Given the description of an element on the screen output the (x, y) to click on. 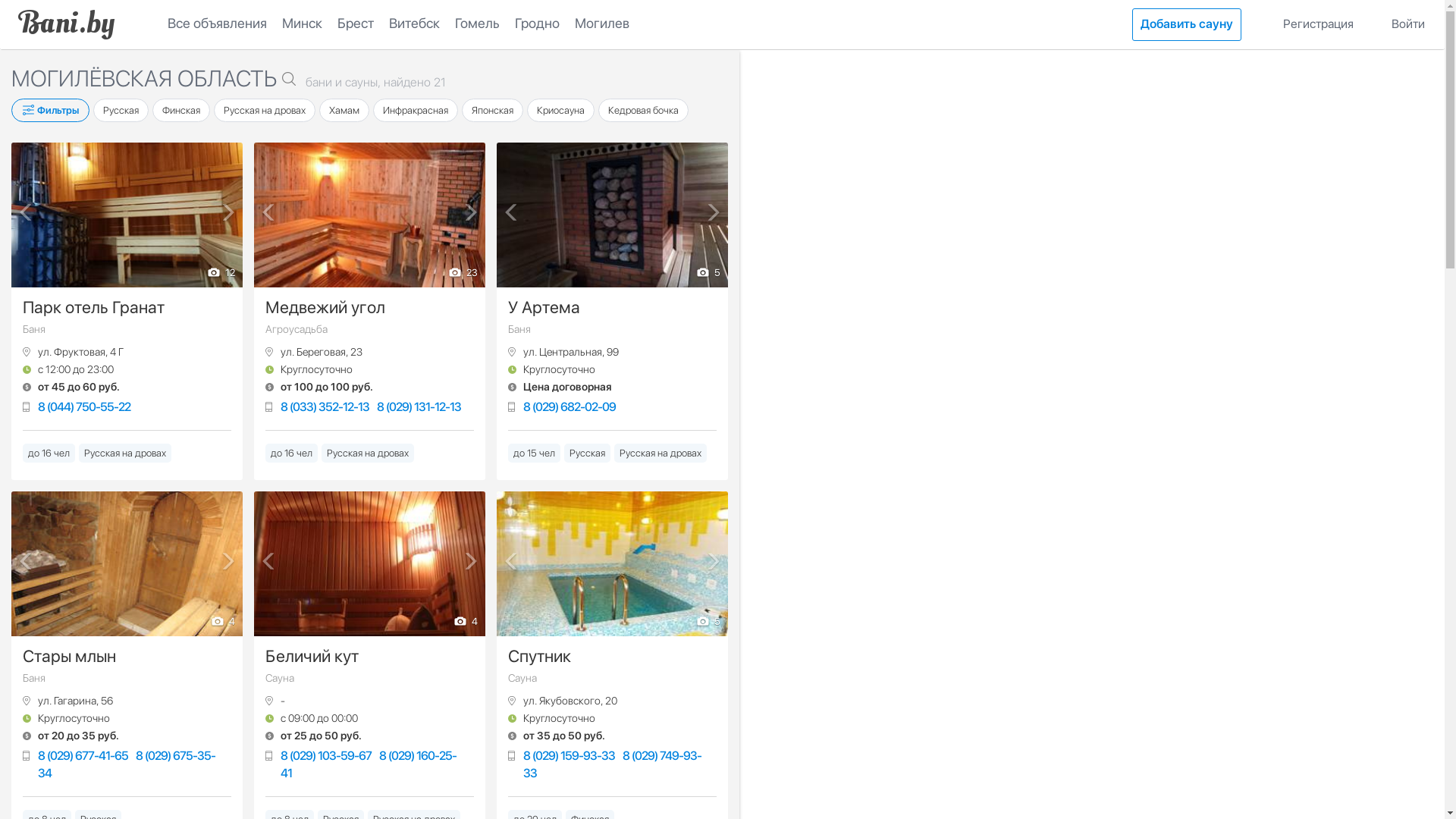
8 (029) 160-25-41 Element type: text (368, 764)
8 (044) 750-55-22 Element type: text (83, 406)
8 (029) 749-93-33 Element type: text (612, 764)
Bani.by Element type: text (67, 23)
8 (029) 103-59-67 Element type: text (325, 755)
8 (029) 682-02-09 Element type: text (569, 406)
8 (029) 131-12-13 Element type: text (418, 406)
8 (029) 159-93-33 Element type: text (569, 755)
8 (029) 677-41-65 Element type: text (82, 755)
8 (033) 352-12-13 Element type: text (324, 406)
8 (029) 675-35-34 Element type: text (126, 764)
